Given the description of an element on the screen output the (x, y) to click on. 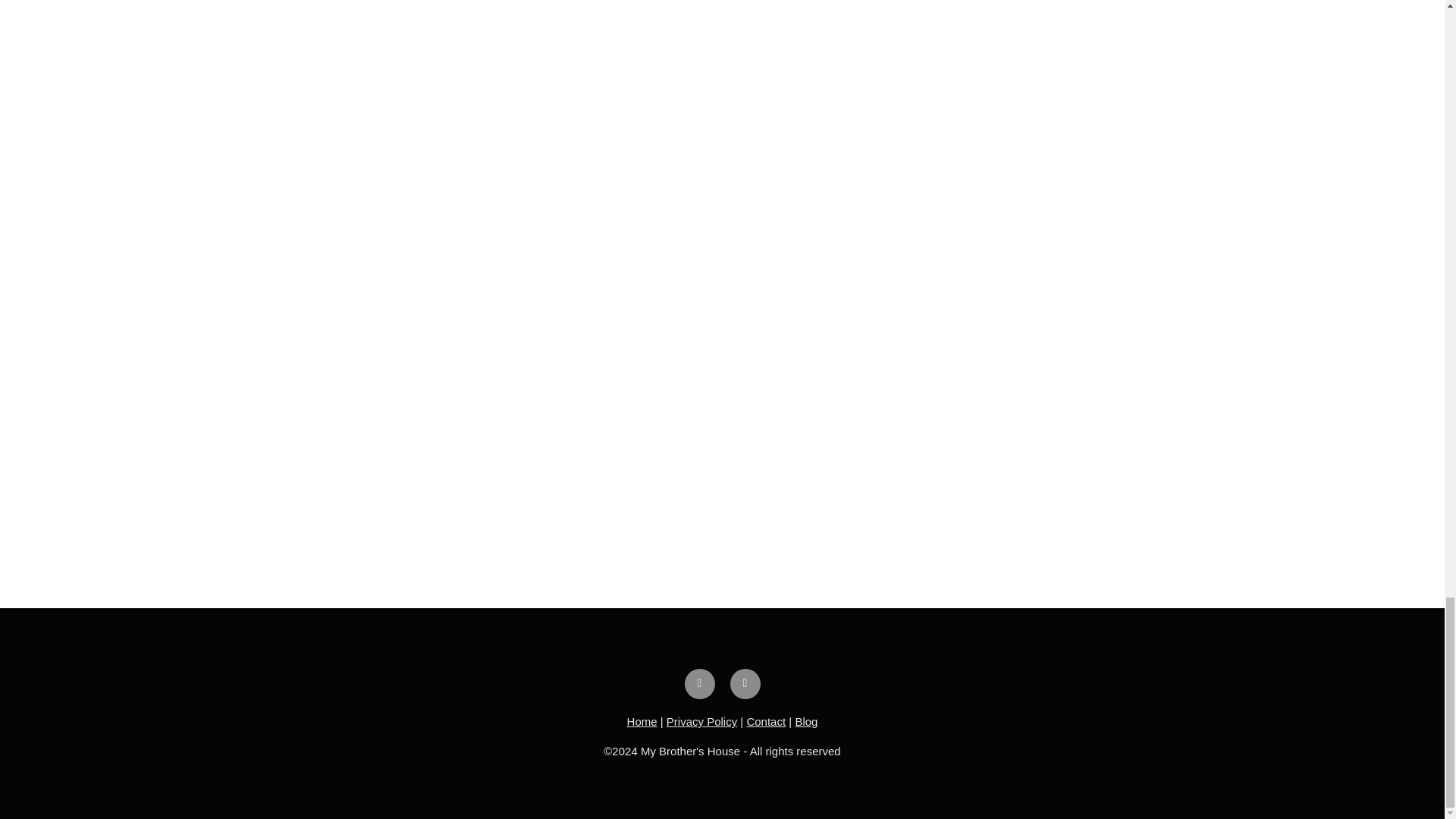
Contact (765, 721)
Blog (805, 721)
Home (642, 721)
Privacy Policy (701, 721)
